Given the description of an element on the screen output the (x, y) to click on. 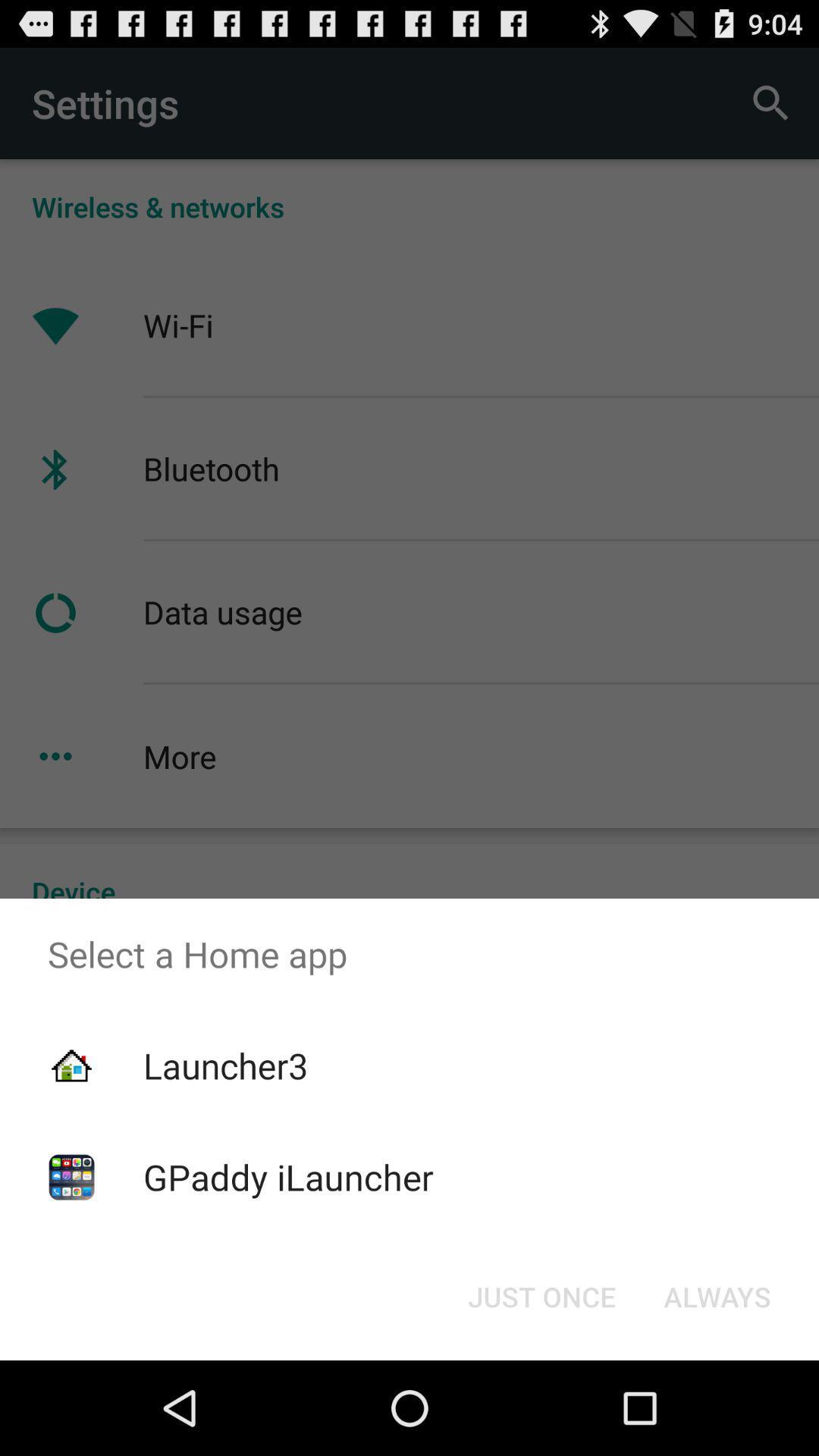
turn on the just once (541, 1296)
